Given the description of an element on the screen output the (x, y) to click on. 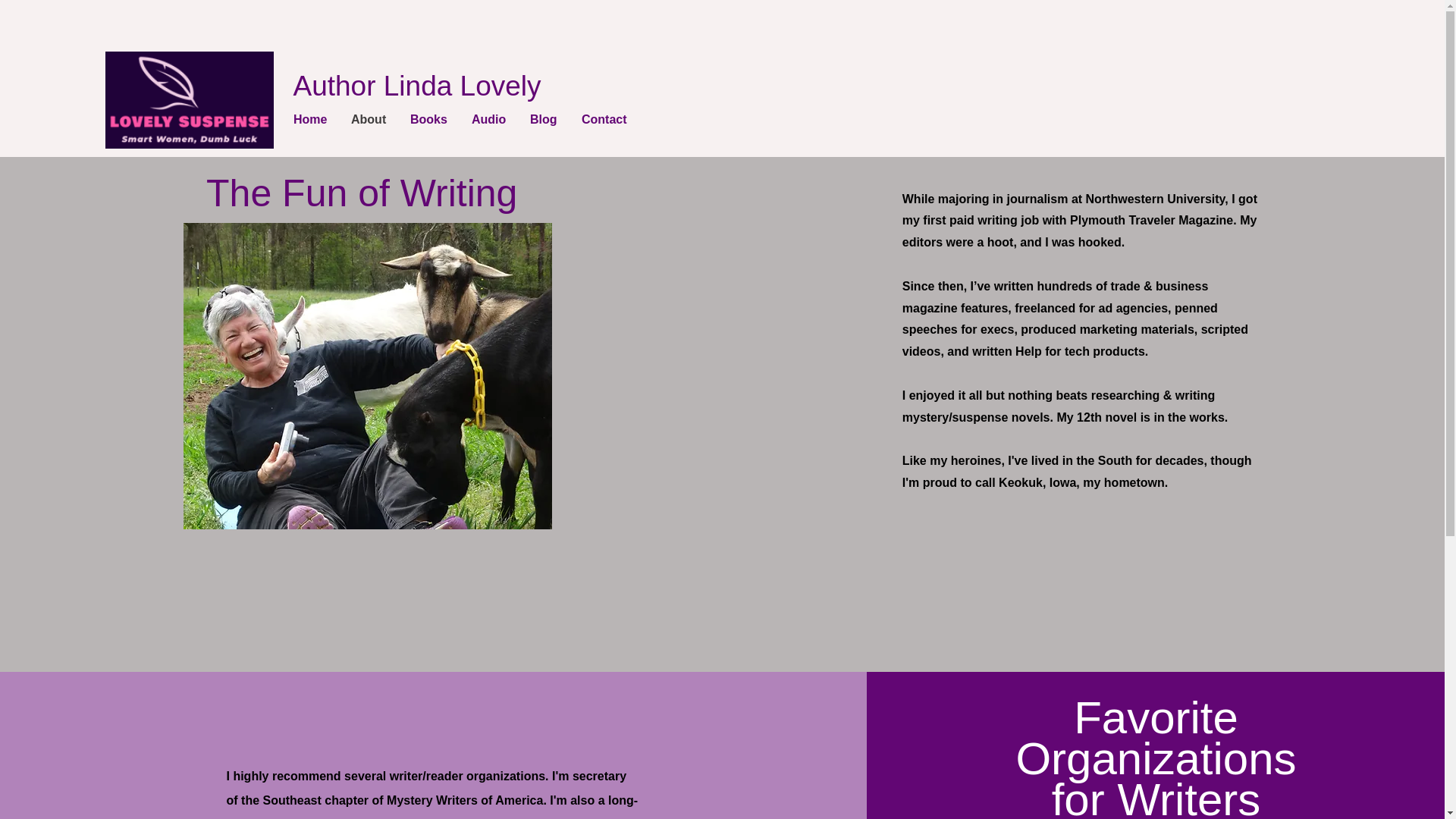
Audio (493, 119)
Contact (608, 119)
Home (314, 119)
BestDoeLaugh.jpg (367, 375)
Blog (547, 119)
About (373, 119)
Books (433, 119)
